Given the description of an element on the screen output the (x, y) to click on. 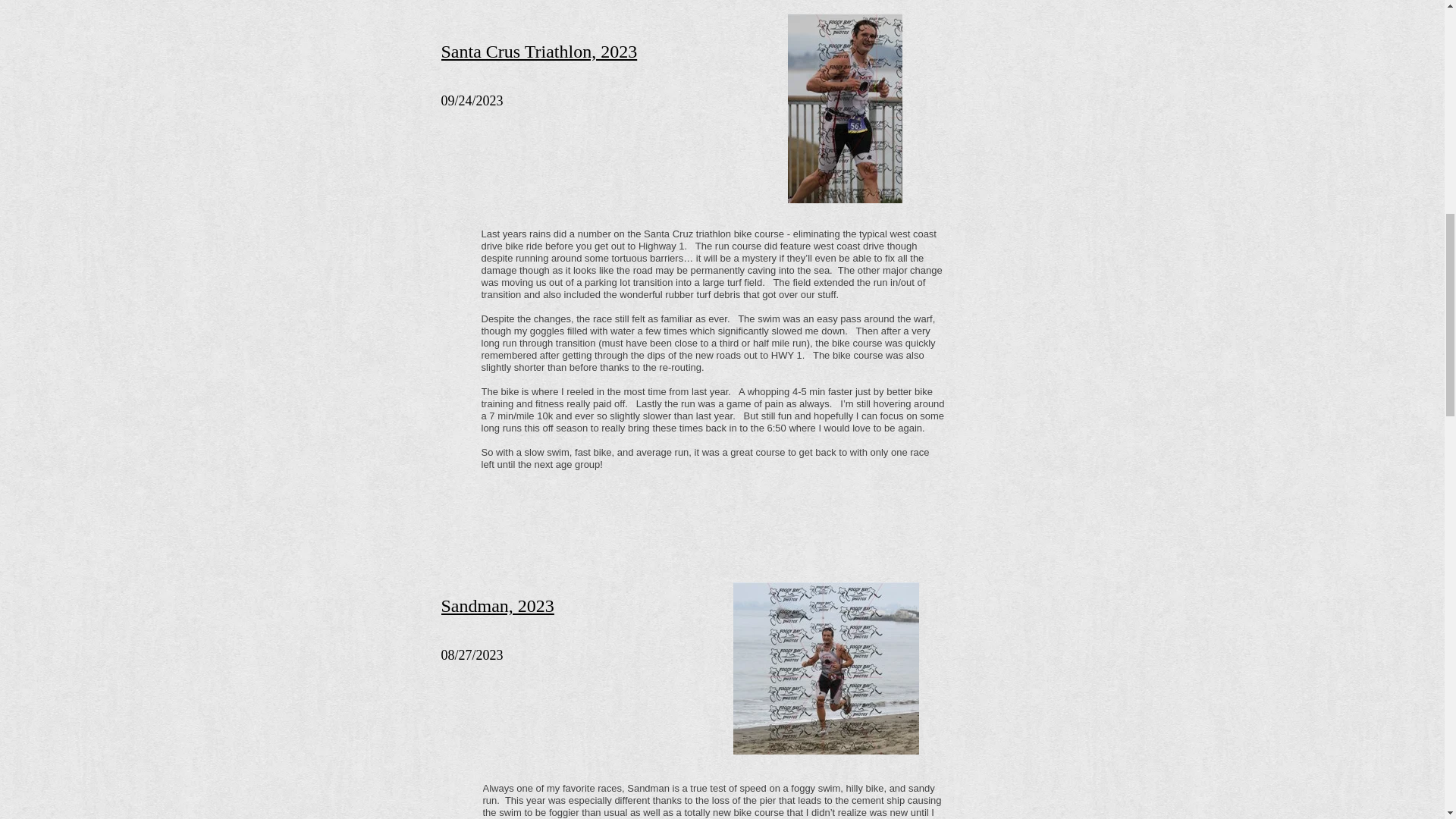
Sandman, 2023 (497, 605)
Santa Crus Triathlon, 2023 (539, 51)
